Given the description of an element on the screen output the (x, y) to click on. 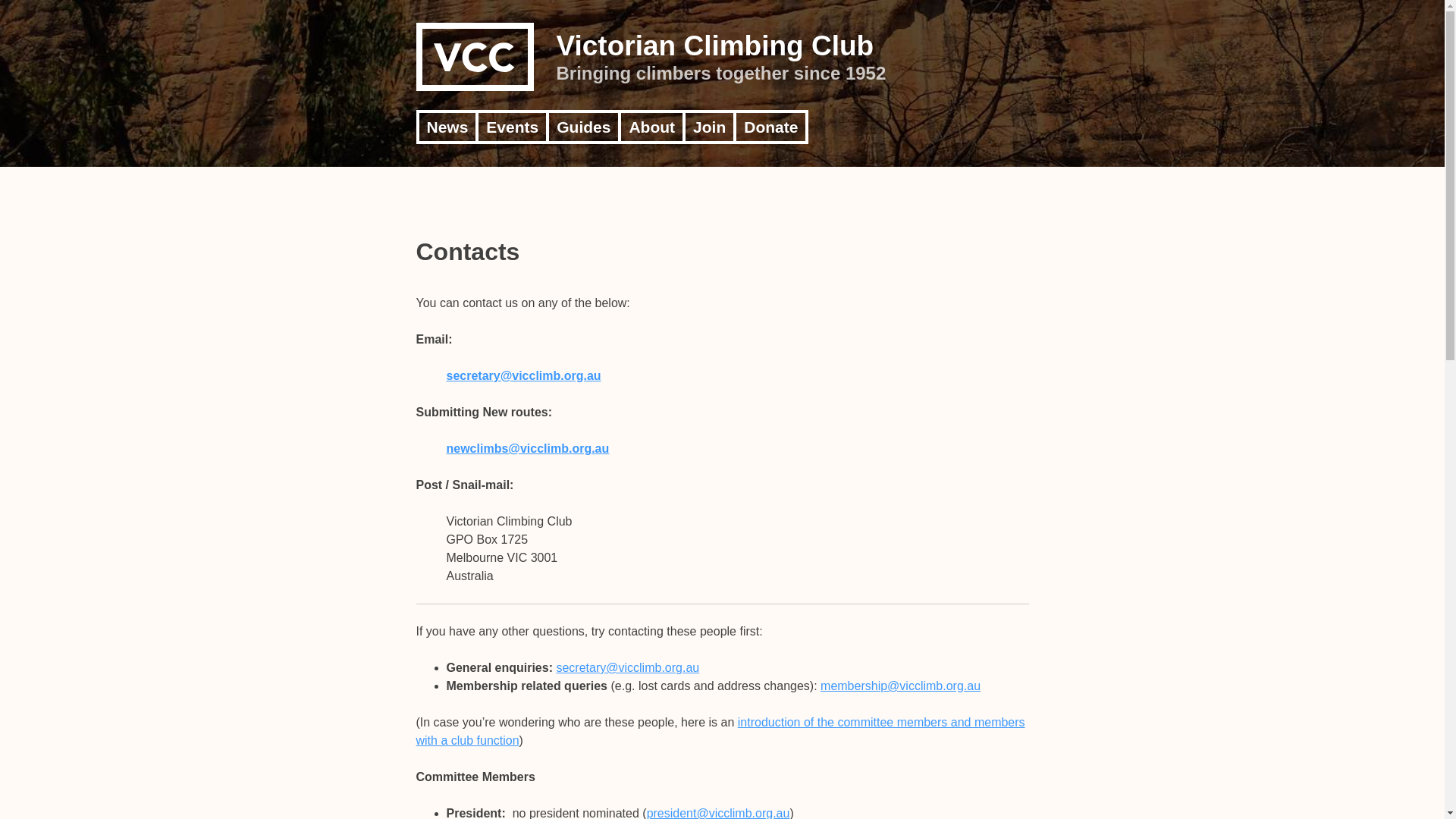
newclimbs@vicclimb.org.au Element type: text (526, 448)
Donate Element type: text (770, 126)
Search Element type: text (24, 9)
secretary@vicclimb.org.au Element type: text (522, 375)
membership@vicclimb.org.au Element type: text (900, 685)
secretary@vicclimb.org.au Element type: text (627, 667)
Events Element type: text (512, 126)
Victorian Climbing Club Element type: text (715, 45)
Join Element type: text (709, 126)
News Element type: text (446, 126)
About Element type: text (651, 126)
Guides Element type: text (583, 126)
